Given the description of an element on the screen output the (x, y) to click on. 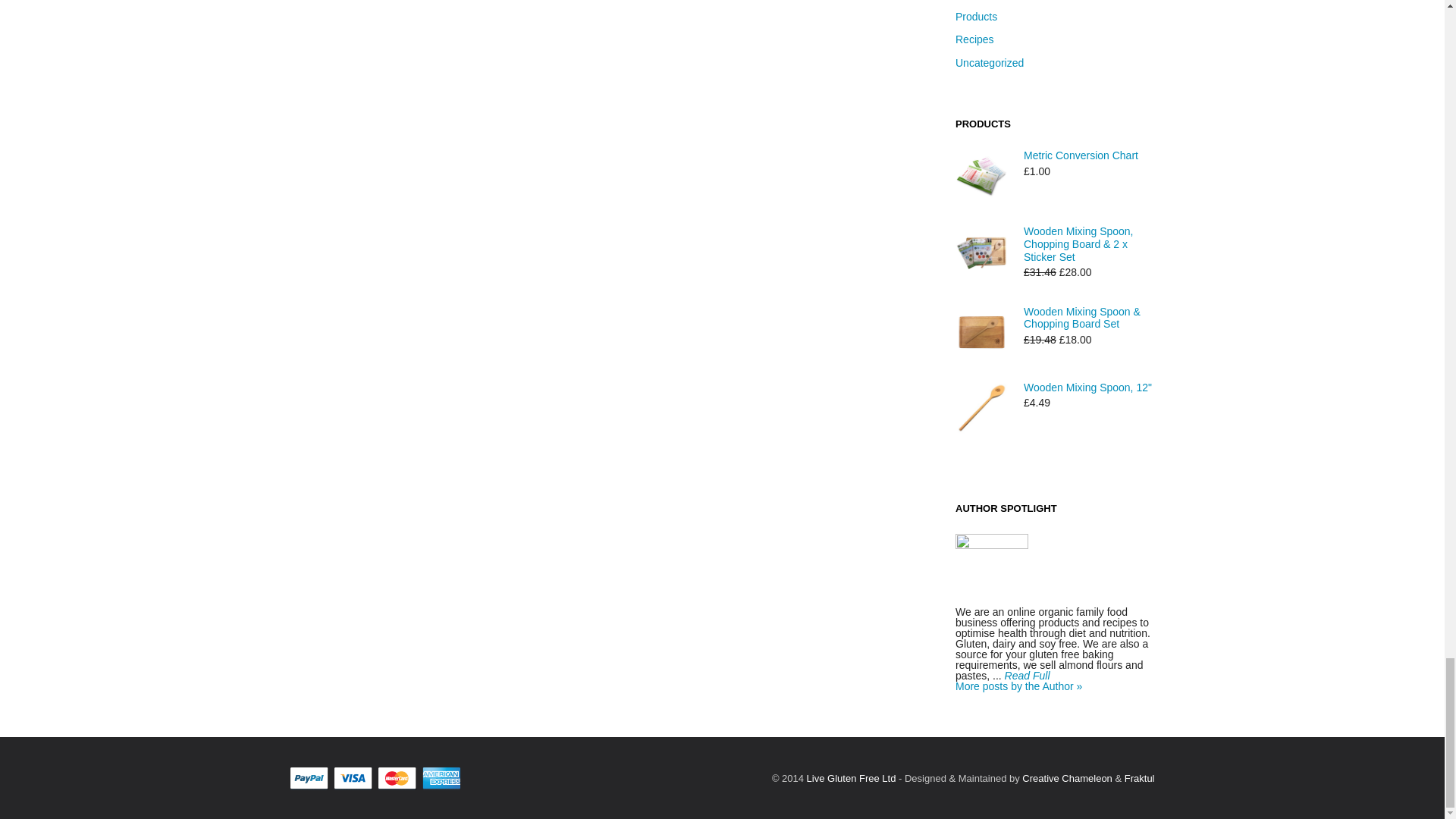
More articles by this author (1018, 686)
Read full Profile (1026, 675)
